Given the description of an element on the screen output the (x, y) to click on. 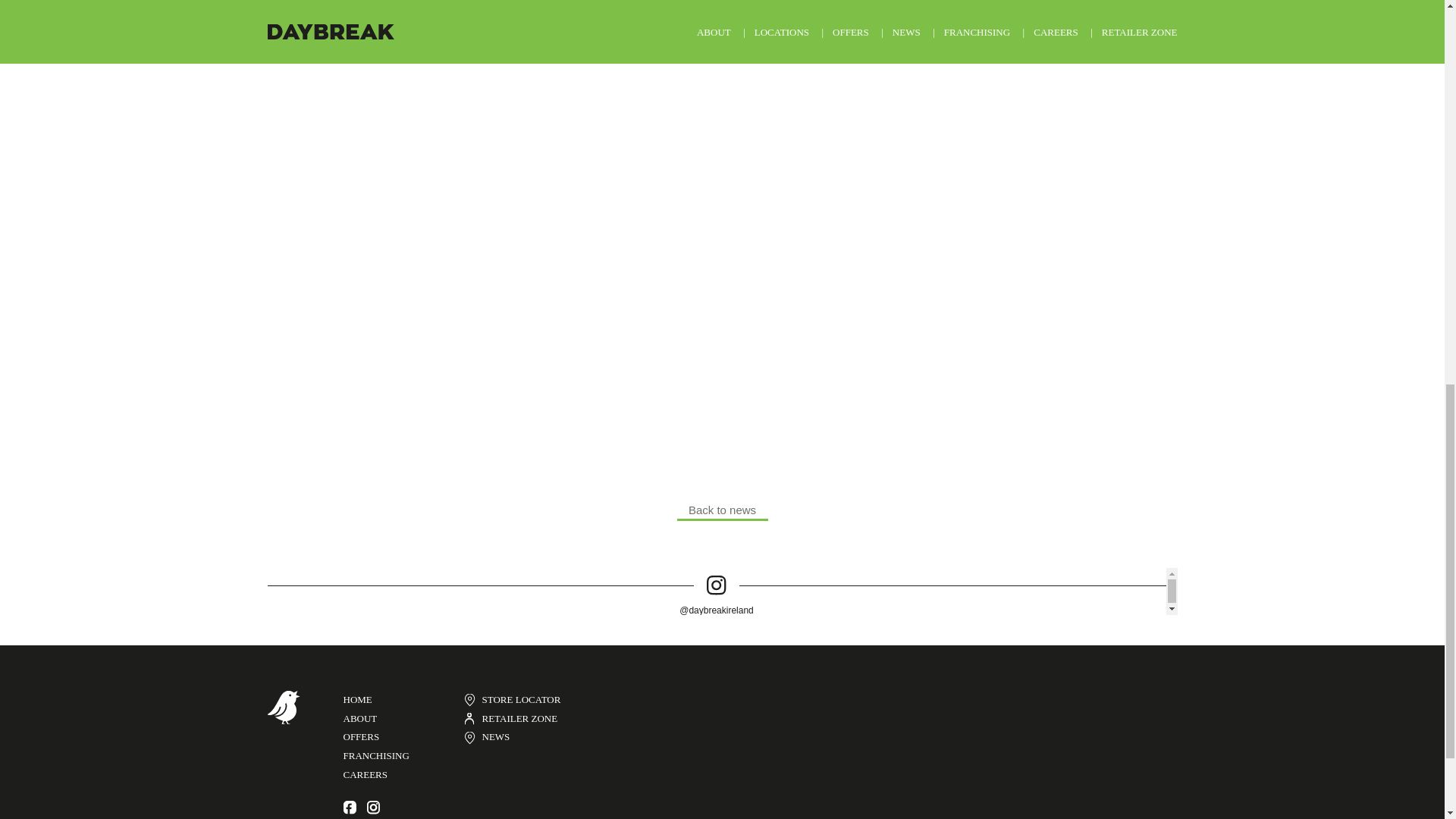
ABOUT (359, 717)
HOME (356, 699)
Back to news (722, 512)
OFFERS (360, 736)
